Given the description of an element on the screen output the (x, y) to click on. 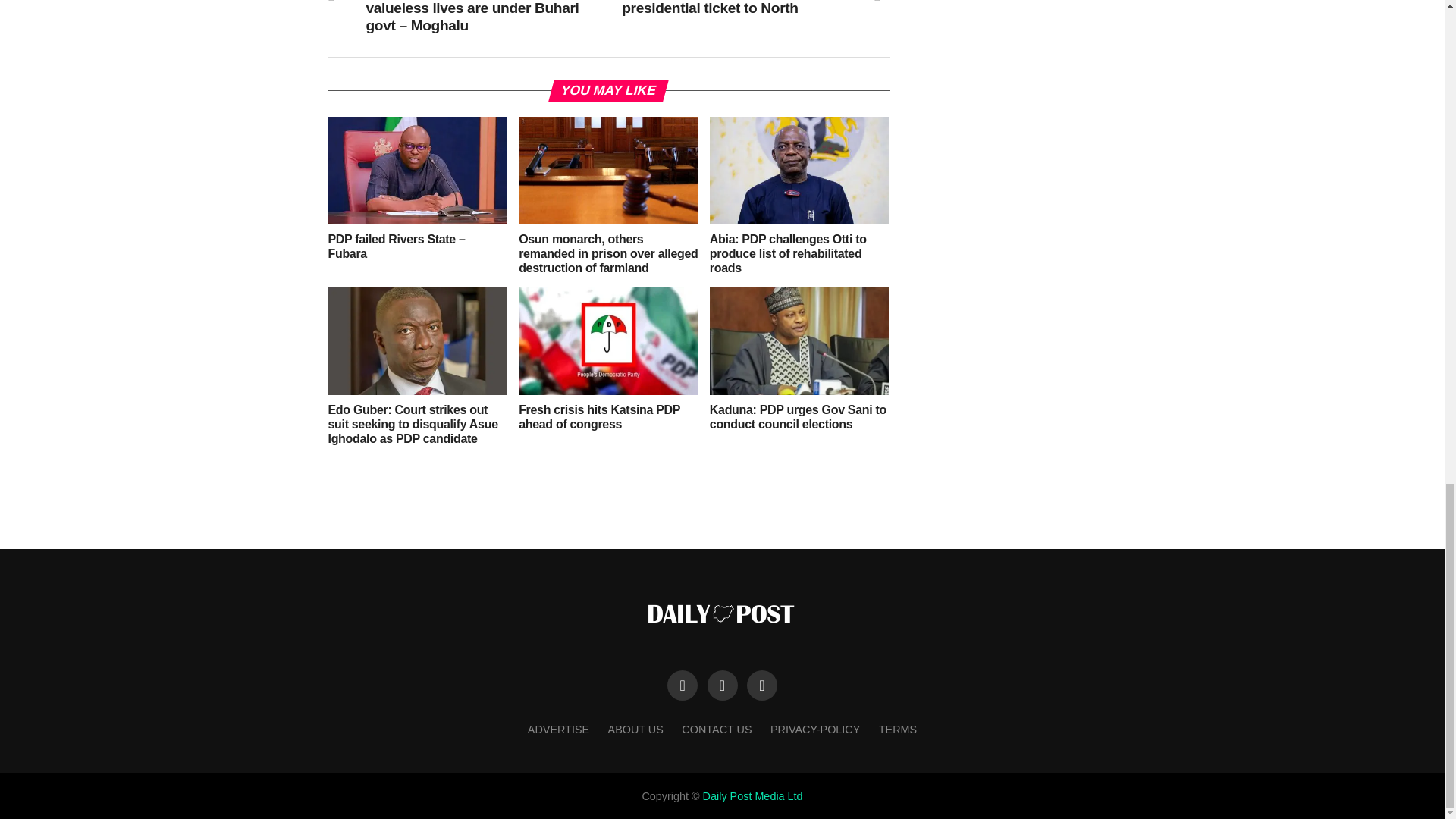
ADVERTISE (558, 729)
